Given the description of an element on the screen output the (x, y) to click on. 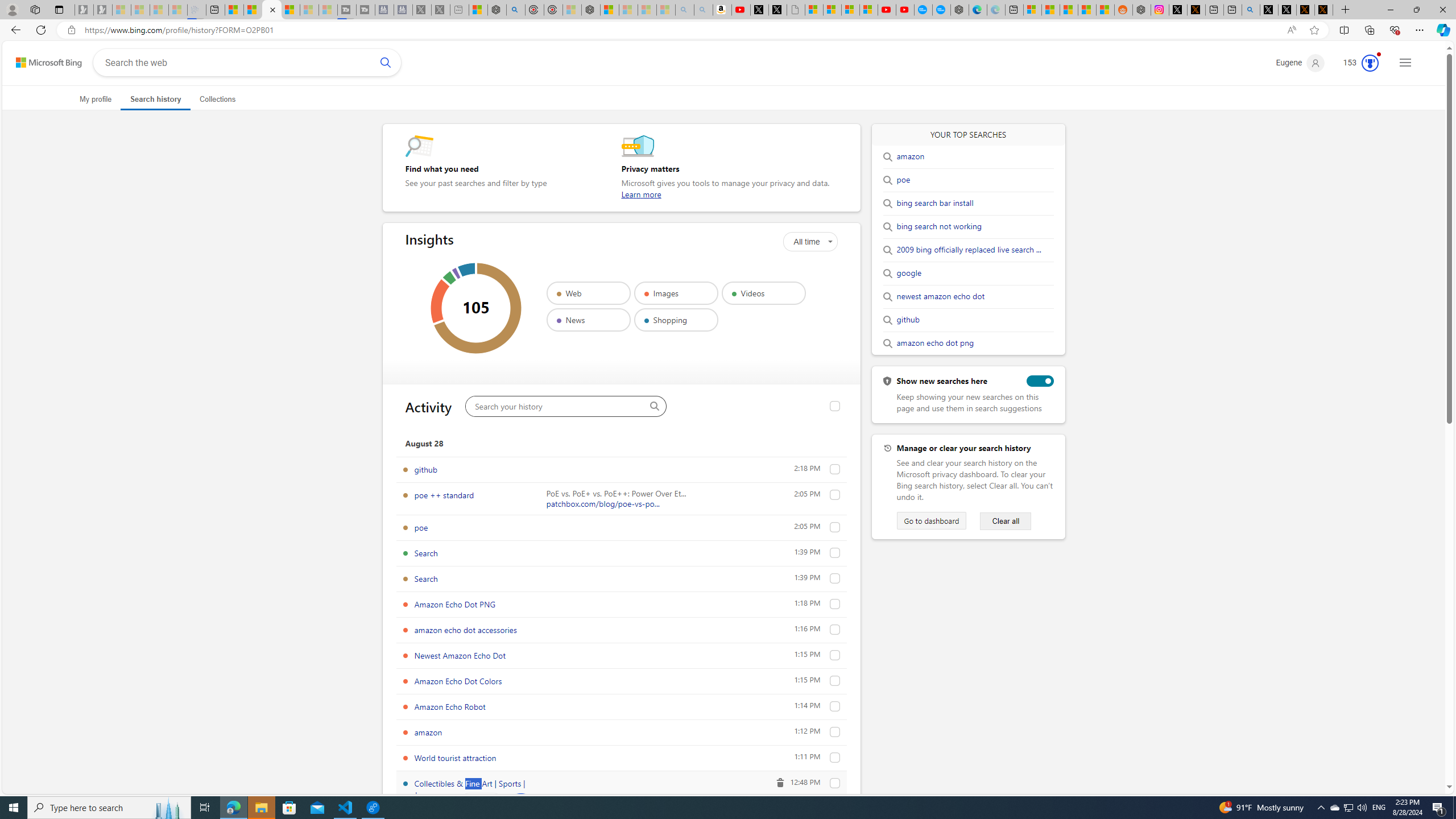
Back (13, 29)
Microsoft Start - Sleeping (309, 9)
Nordace - Nordace Siena Is Not An Ordinary Backpack (590, 9)
Search your history (556, 406)
newest amazon echo dot (940, 296)
Search (385, 61)
Fine (480, 804)
Shanghai, China hourly forecast | Microsoft Weather (1069, 9)
bing search not working (939, 226)
Select all searches in this page (834, 405)
Search your history (654, 405)
Amazon Echo Dot PNG - Search Images - Sleeping (702, 9)
Read aloud this page (Ctrl+Shift+U) (1291, 29)
Wildlife - MSN (478, 9)
